Given the description of an element on the screen output the (x, y) to click on. 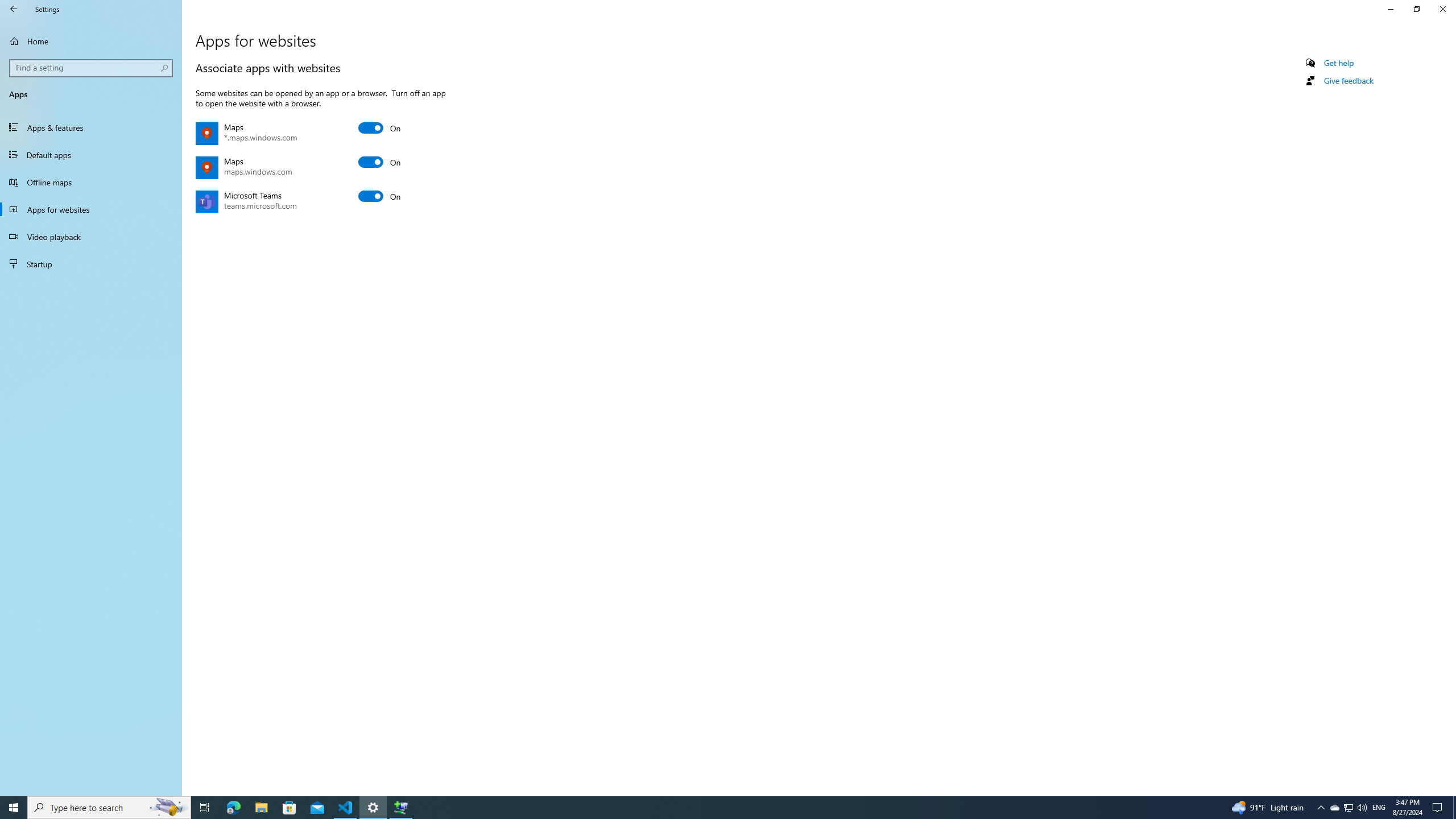
Get help (1338, 62)
Close Settings (1442, 9)
Restore Settings (1416, 9)
Minimize Settings (1390, 9)
